Given the description of an element on the screen output the (x, y) to click on. 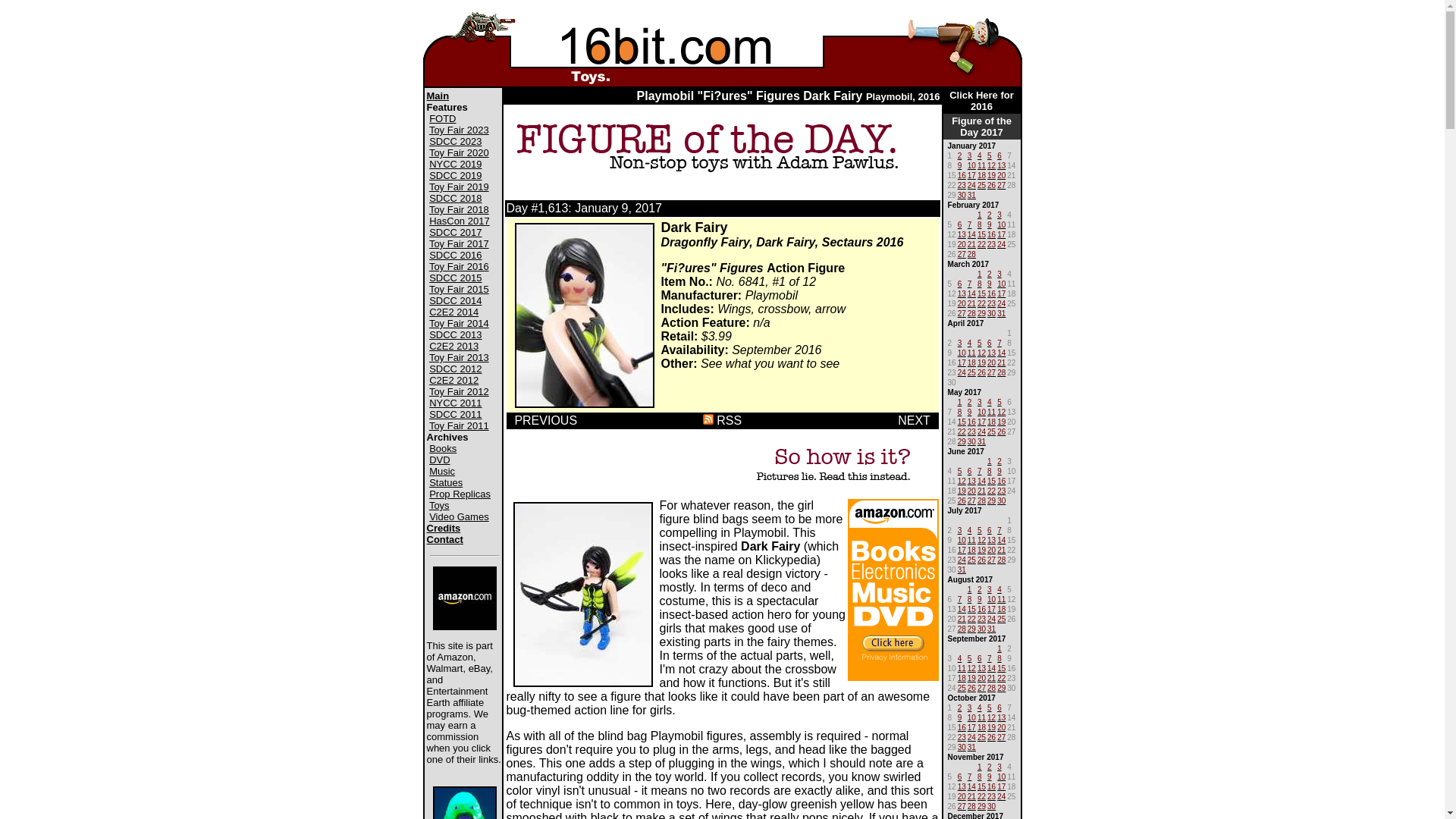
6 Element type: text (979, 656)
22 Element type: text (1001, 676)
29 Element type: text (971, 627)
14 Element type: text (1001, 351)
13 Element type: text (961, 232)
SDCC 2018 Element type: text (455, 197)
14 Element type: text (971, 291)
3 Element type: text (979, 400)
14 Element type: text (991, 666)
14 Element type: text (971, 232)
5 Element type: text (959, 469)
25 Element type: text (961, 686)
9 Element type: text (999, 469)
Toy Fair 2015 Element type: text (459, 288)
5 Element type: text (969, 656)
SDCC 2014 Element type: text (455, 300)
HasCon 2017 Element type: text (459, 220)
6 Element type: text (959, 774)
17 Element type: text (991, 607)
17 Element type: text (961, 548)
21 Element type: text (971, 242)
18 Element type: text (971, 548)
4 Element type: text (969, 341)
17 Element type: text (1001, 784)
20 Element type: text (981, 676)
SDCC 2011 Element type: text (455, 414)
16 Element type: text (1001, 479)
18 Element type: text (961, 676)
NYCC 2019 Element type: text (455, 163)
15 Element type: text (1001, 666)
28 Element type: text (1001, 370)
31 Element type: text (971, 193)
Video Games Element type: text (459, 516)
2 Element type: text (959, 705)
C2E2 2014 Element type: text (453, 311)
10 Element type: text (961, 351)
5 Element type: text (989, 153)
10 Element type: text (1001, 222)
8 Element type: text (989, 469)
1 Element type: text (959, 400)
17 Element type: text (1001, 291)
14 Element type: text (961, 607)
27 Element type: text (961, 804)
10 Element type: text (971, 163)
6 Element type: text (959, 282)
4 Element type: text (999, 587)
19 Element type: text (991, 173)
28 Element type: text (961, 627)
24 Element type: text (981, 429)
29 Element type: text (991, 498)
13 Element type: text (991, 538)
23 Element type: text (961, 183)
SDCC 2015 Element type: text (455, 277)
31 Element type: text (991, 627)
31 Element type: text (971, 745)
Prop Replicas Element type: text (459, 493)
4 Element type: text (969, 528)
24 Element type: text (971, 183)
26 Element type: text (981, 370)
NYCC 2011 Element type: text (455, 402)
24 Element type: text (1001, 242)
10 Element type: text (961, 538)
8 Element type: text (969, 597)
5 Element type: text (999, 400)
24 Element type: text (991, 617)
23 Element type: text (991, 794)
6 Element type: text (969, 469)
30 Element type: text (961, 193)
Toy Fair 2017 Element type: text (459, 243)
16 Element type: text (971, 420)
SDCC 2013 Element type: text (455, 334)
16 Element type: text (981, 607)
NEXT Element type: text (913, 420)
12 Element type: text (971, 666)
26 Element type: text (991, 183)
28 Element type: text (991, 686)
1 Element type: text (979, 765)
Toy Fair 2019 Element type: text (459, 186)
6 Element type: text (989, 528)
21 Element type: text (961, 617)
19 Element type: text (1001, 420)
20 Element type: text (961, 242)
13 Element type: text (961, 784)
5 Element type: text (989, 705)
3 Element type: text (999, 213)
FOTD Element type: text (442, 118)
1 Element type: text (969, 587)
22 Element type: text (991, 489)
12 Element type: text (1001, 410)
18 Element type: text (1001, 607)
9 Element type: text (989, 222)
28 Element type: text (971, 252)
Toy Fair 2012 Element type: text (459, 391)
27 Element type: text (991, 370)
C2E2 2012 Element type: text (453, 379)
Toy Fair 2011 Element type: text (459, 425)
3 Element type: text (989, 587)
20 Element type: text (991, 548)
18 Element type: text (971, 360)
27 Element type: text (971, 498)
20 Element type: text (991, 360)
30 Element type: text (981, 627)
11 Element type: text (1001, 597)
19 Element type: text (991, 725)
30 Element type: text (991, 804)
18 Element type: text (991, 420)
Music Element type: text (442, 470)
9 Element type: text (989, 282)
Toy Fair 2014 Element type: text (459, 323)
9 Element type: text (969, 410)
23 Element type: text (961, 735)
6 Element type: text (999, 153)
11 Element type: text (991, 410)
29 Element type: text (981, 311)
Click Here for 2016 Element type: text (981, 100)
Toy Fair 2018 Element type: text (459, 209)
17 Element type: text (971, 725)
SDCC 2017 Element type: text (455, 232)
4 Element type: text (959, 656)
C2E2 2013 Element type: text (453, 345)
8 Element type: text (999, 656)
4 Element type: text (989, 400)
2 Element type: text (989, 765)
14 Element type: text (1001, 538)
13 Element type: text (971, 479)
13 Element type: text (981, 666)
27 Element type: text (961, 311)
25 Element type: text (981, 183)
20 Element type: text (1001, 173)
31 Element type: text (1001, 311)
5 Element type: text (979, 528)
2 Element type: text (979, 587)
19 Element type: text (981, 360)
24 Element type: text (971, 735)
Books Element type: text (442, 448)
11 Element type: text (971, 538)
3 Element type: text (959, 528)
Toys Element type: text (439, 505)
7 Element type: text (999, 528)
4 Element type: text (979, 153)
23 Element type: text (991, 301)
13 Element type: text (991, 351)
11 Element type: text (981, 715)
9 Element type: text (989, 774)
Credits Element type: text (443, 527)
24 Element type: text (961, 558)
17 Element type: text (971, 173)
25 Element type: text (981, 735)
19 Element type: text (981, 548)
20 Element type: text (961, 301)
23 Element type: text (971, 429)
22 Element type: text (981, 242)
18 Element type: text (981, 173)
Toy Fair 2023 Element type: text (459, 129)
26 Element type: text (981, 558)
1 Element type: text (979, 213)
8 Element type: text (979, 282)
2 Element type: text (989, 213)
22 Element type: text (981, 794)
7 Element type: text (979, 469)
15 Element type: text (971, 607)
31 Element type: text (981, 439)
3 Element type: text (999, 765)
22 Element type: text (981, 301)
Statues Element type: text (445, 482)
9 Element type: text (979, 597)
16 Element type: text (991, 784)
2 Element type: text (969, 400)
9 Element type: text (959, 163)
27 Element type: text (1001, 735)
28 Element type: text (1001, 558)
25 Element type: text (991, 429)
28 Element type: text (981, 498)
PREVIOUS Element type: text (545, 420)
Toy Fair 2013 Element type: text (459, 357)
23 Element type: text (1001, 489)
SDCC 2019 Element type: text (455, 175)
17 Element type: text (981, 420)
19 Element type: text (961, 489)
25 Element type: text (1001, 617)
29 Element type: text (981, 804)
19 Element type: text (971, 676)
23 Element type: text (991, 242)
15 Element type: text (991, 479)
10 Element type: text (1001, 282)
13 Element type: text (1001, 163)
16 Element type: text (961, 725)
30 Element type: text (971, 439)
30 Element type: text (1001, 498)
25 Element type: text (971, 370)
26 Element type: text (1001, 429)
2 Element type: text (959, 153)
21 Element type: text (971, 794)
12 Element type: text (981, 538)
17 Element type: text (961, 360)
20 Element type: text (971, 489)
10 Element type: text (981, 410)
14 Element type: text (971, 784)
10 Element type: text (1001, 774)
DVD Element type: text (439, 459)
7 Element type: text (969, 222)
23 Element type: text (981, 617)
25 Element type: text (971, 558)
16 Element type: text (991, 232)
7 Element type: text (989, 656)
21 Element type: text (991, 676)
9 Element type: text (959, 715)
12 Element type: text (991, 163)
13 Element type: text (1001, 715)
16 Element type: text (991, 291)
6 Element type: text (989, 341)
15 Element type: text (981, 784)
27 Element type: text (961, 252)
24 Element type: text (961, 370)
22 Element type: text (971, 617)
7 Element type: text (999, 341)
27 Element type: text (991, 558)
24 Element type: text (1001, 301)
11 Element type: text (961, 666)
8 Element type: text (959, 410)
30 Element type: text (991, 311)
20 Element type: text (1001, 725)
28 Element type: text (971, 311)
30 Element type: text (961, 745)
11 Element type: text (981, 163)
16 Element type: text (961, 173)
SDCC 2023 Element type: text (455, 141)
1 Element type: text (999, 646)
31 Element type: text (961, 567)
3 Element type: text (959, 341)
21 Element type: text (1001, 360)
26 Element type: text (971, 686)
Contact Element type: text (444, 539)
2 Element type: text (989, 272)
21 Element type: text (1001, 548)
20 Element type: text (961, 794)
7 Element type: text (959, 597)
6 Element type: text (959, 222)
7 Element type: text (969, 774)
17 Element type: text (1001, 232)
Toy Fair 2016 Element type: text (459, 266)
26 Element type: text (991, 735)
12 Element type: text (991, 715)
1 Element type: text (979, 272)
3 Element type: text (999, 272)
RSS Element type: text (721, 420)
2 Element type: text (999, 459)
11 Element type: text (971, 351)
1 Element type: text (989, 459)
29 Element type: text (961, 439)
13 Element type: text (961, 291)
18 Element type: text (981, 725)
28 Element type: text (971, 804)
8 Element type: text (979, 222)
21 Element type: text (981, 489)
14 Element type: text (981, 479)
3 Element type: text (969, 153)
21 Element type: text (971, 301)
12 Element type: text (981, 351)
5 Element type: text (979, 341)
15 Element type: text (981, 232)
29 Element type: text (1001, 686)
8 Element type: text (979, 774)
12 Element type: text (961, 479)
Toy Fair 2020 Element type: text (459, 152)
27 Element type: text (1001, 183)
4 Element type: text (979, 705)
7 Element type: text (969, 282)
SDCC 2016 Element type: text (455, 254)
Main Element type: text (437, 95)
22 Element type: text (961, 429)
27 Element type: text (981, 686)
SDCC 2012 Element type: text (455, 368)
15 Element type: text (981, 291)
15 Element type: text (961, 420)
6 Element type: text (999, 705)
10 Element type: text (991, 597)
3 Element type: text (969, 705)
10 Element type: text (971, 715)
24 Element type: text (1001, 794)
26 Element type: text (961, 498)
